Given the description of an element on the screen output the (x, y) to click on. 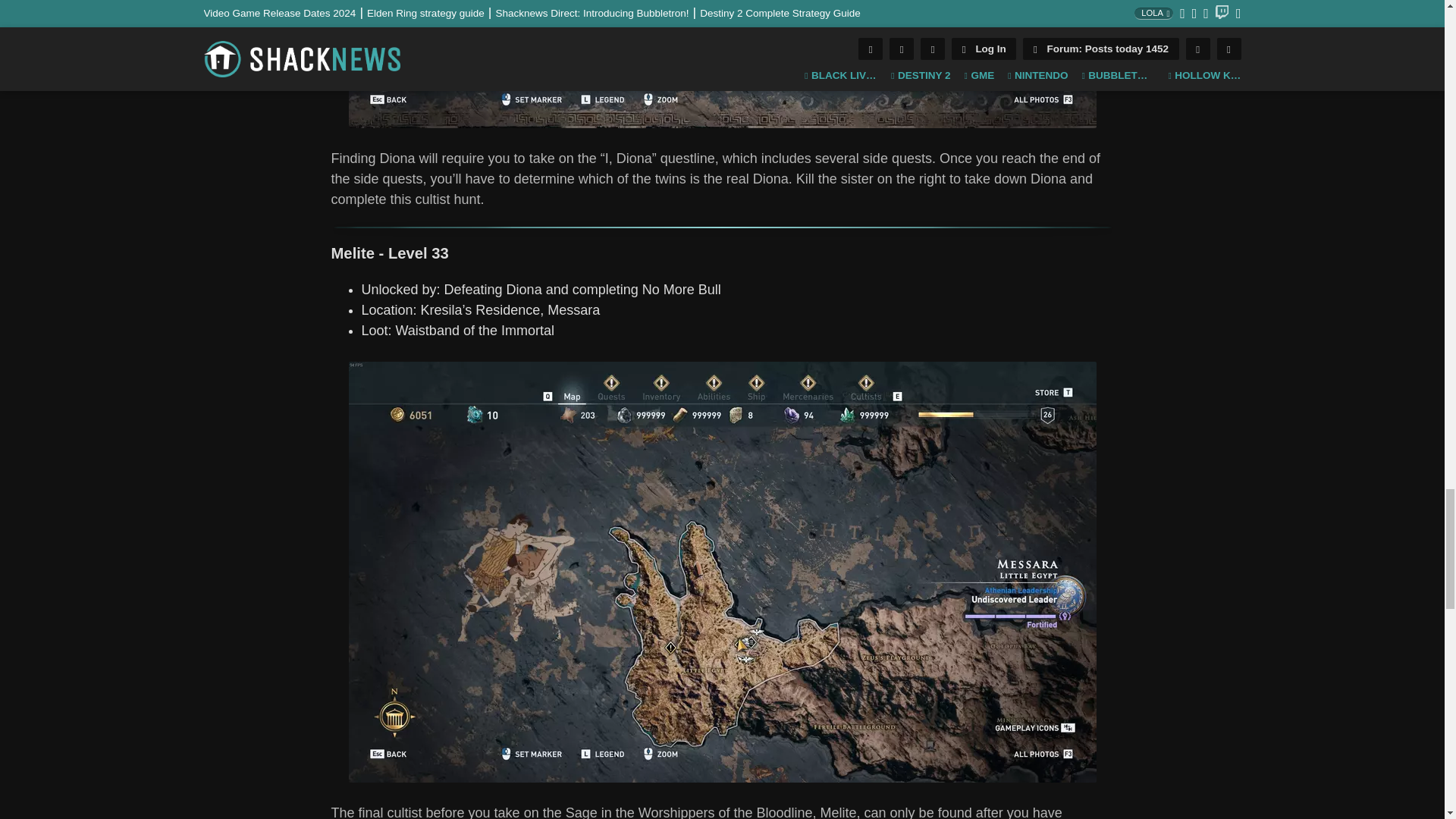
Assassin's Creed Odyssey - Diona location (722, 63)
